Given the description of an element on the screen output the (x, y) to click on. 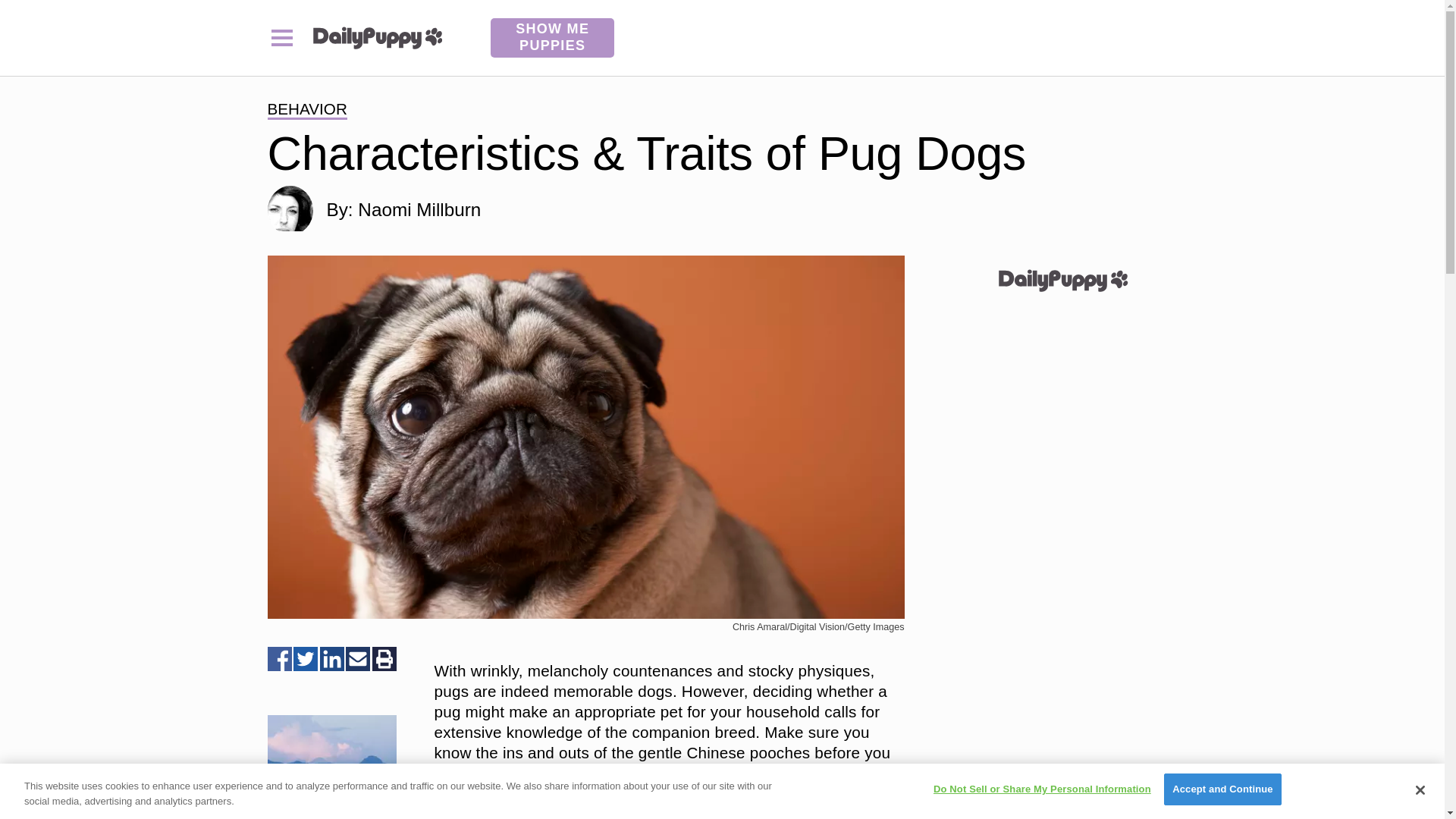
SHOW ME PUPPIES (552, 37)
